Given the description of an element on the screen output the (x, y) to click on. 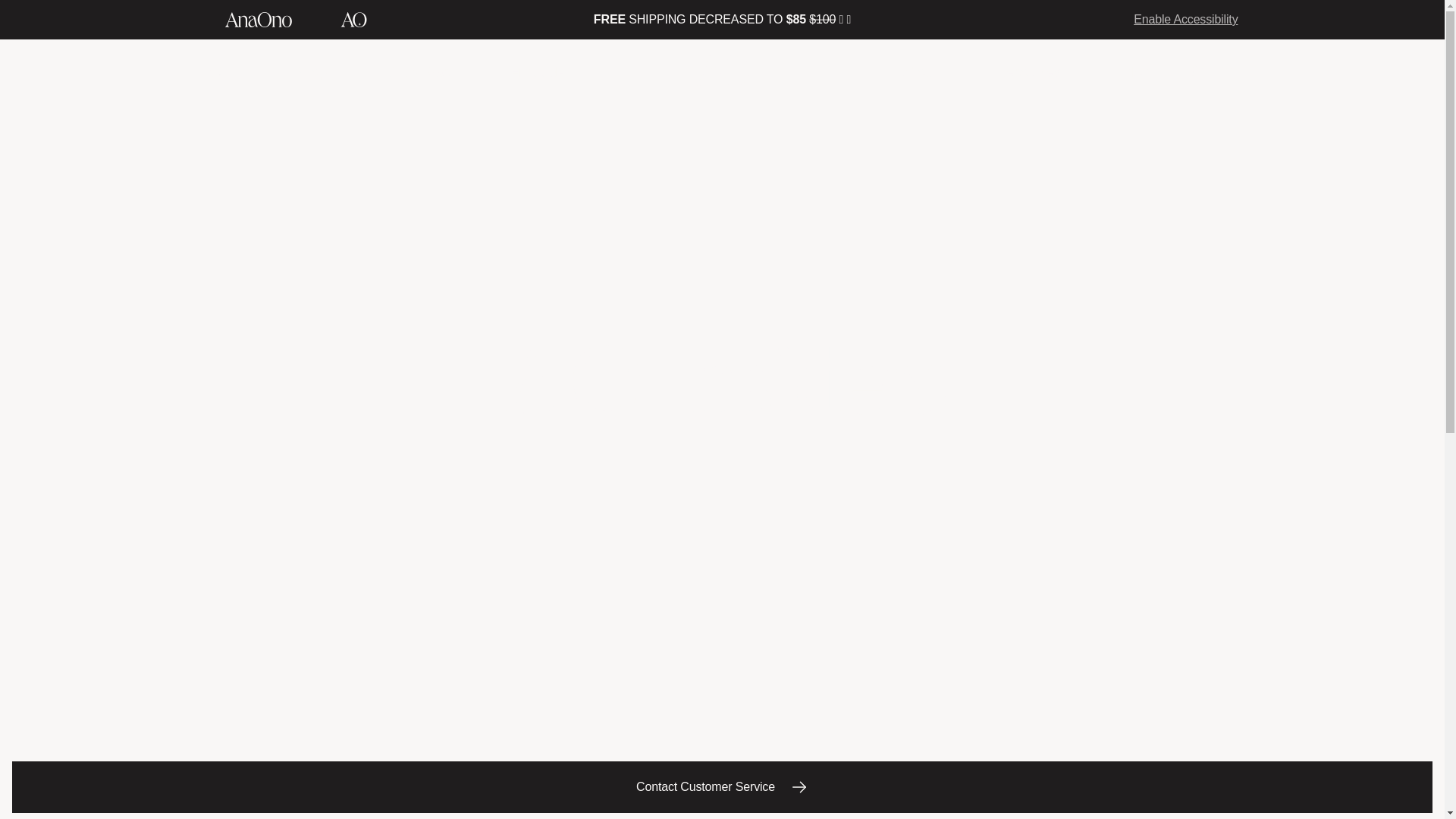
Resources (1029, 72)
Shop Bras (418, 72)
AnaOno (722, 72)
AnaOno Medical (352, 19)
AnaOno (257, 19)
Shopping Cart (1229, 72)
